Given the description of an element on the screen output the (x, y) to click on. 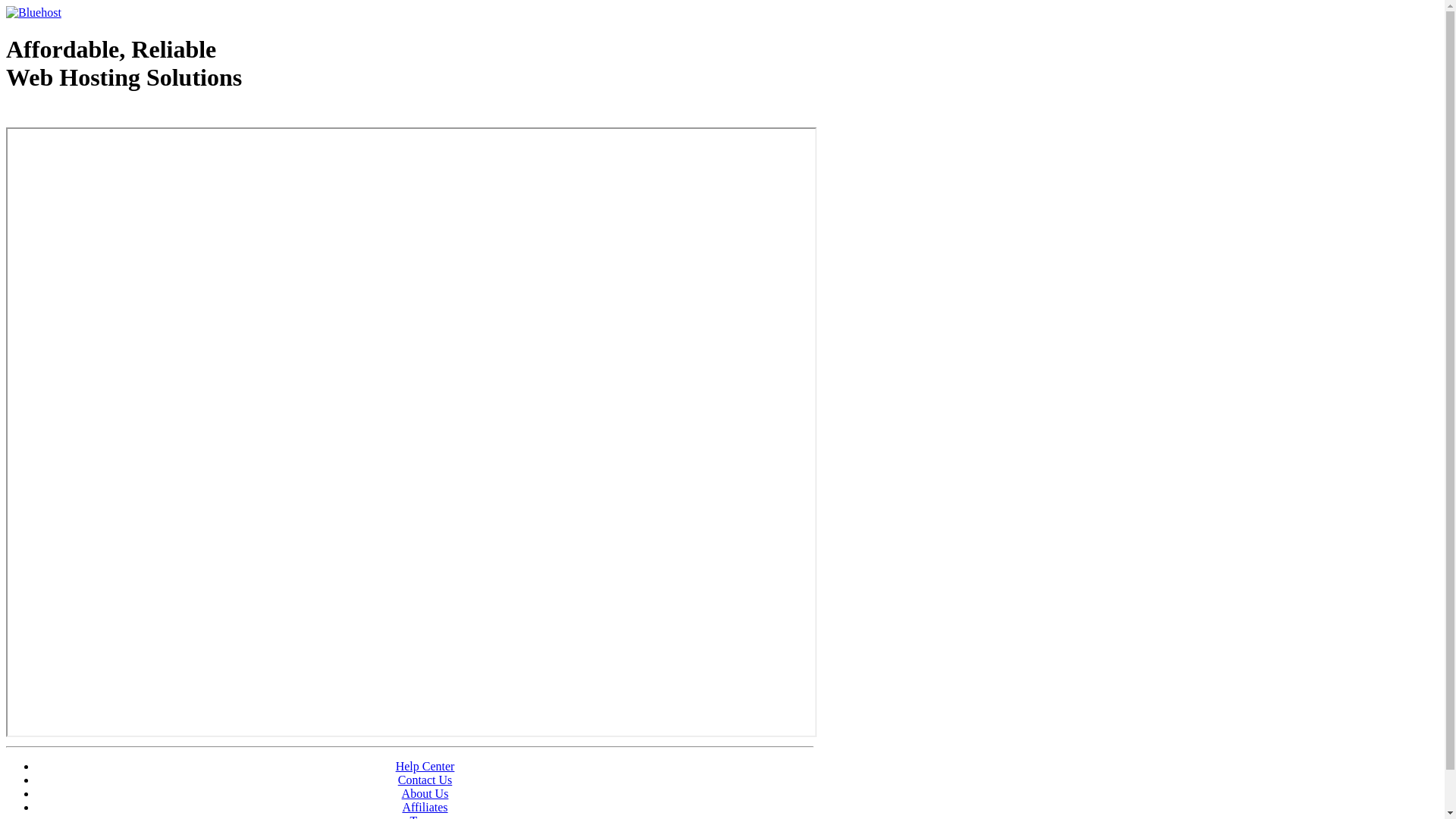
Help Center Element type: text (425, 765)
About Us Element type: text (424, 793)
Web Hosting - courtesy of www.bluehost.com Element type: text (94, 115)
Affiliates Element type: text (424, 806)
Contact Us Element type: text (425, 779)
